Given the description of an element on the screen output the (x, y) to click on. 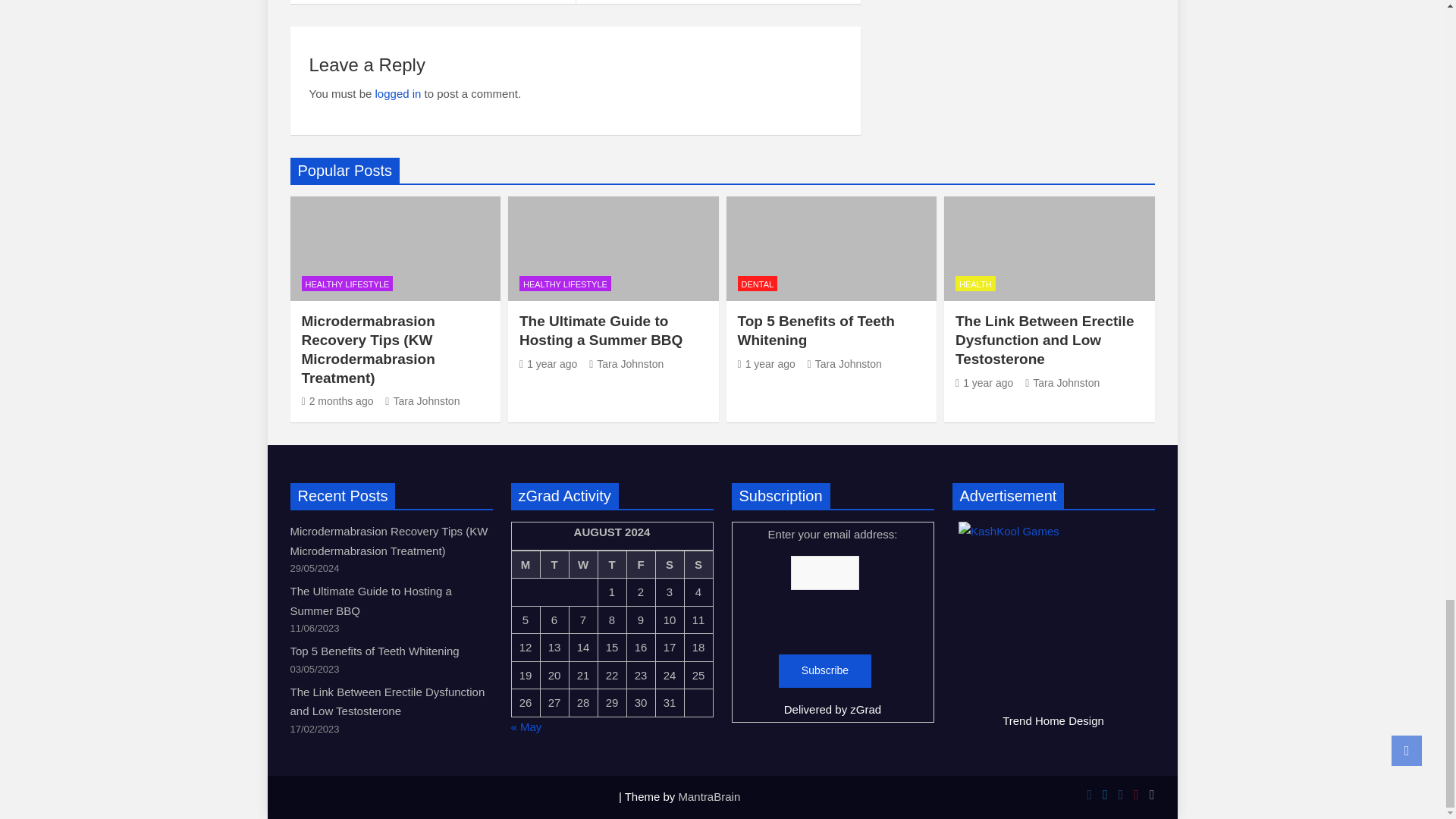
logged in (398, 92)
The Link Between Erectile Dysfunction and Low Testosterone (984, 382)
The Ultimate Guide to Hosting a Summer BBQ (547, 363)
Monday (525, 564)
The Insider Secrets For Food Health zGrad Exposed (432, 2)
Subscribe (824, 670)
Top 5 Benefits of Teeth Whitening (765, 363)
